Given the description of an element on the screen output the (x, y) to click on. 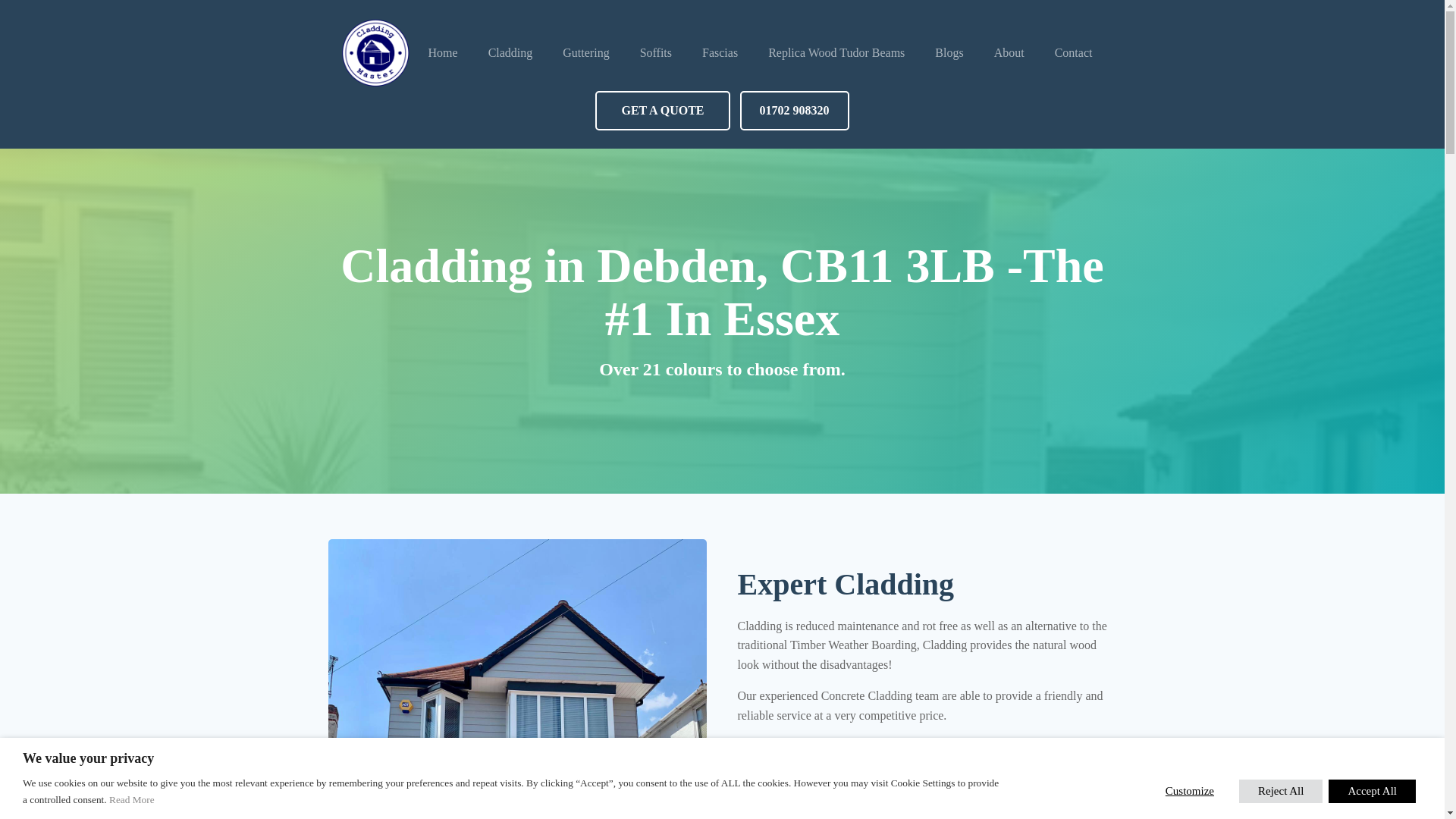
About (1008, 53)
Soffits (655, 53)
Contact (1073, 53)
Cladding (510, 53)
Home (443, 53)
01702 908320 (793, 110)
Guttering (585, 53)
Blogs (949, 53)
Replica Wood Tudor Beams (836, 53)
GET A QUOTE (662, 110)
